Given the description of an element on the screen output the (x, y) to click on. 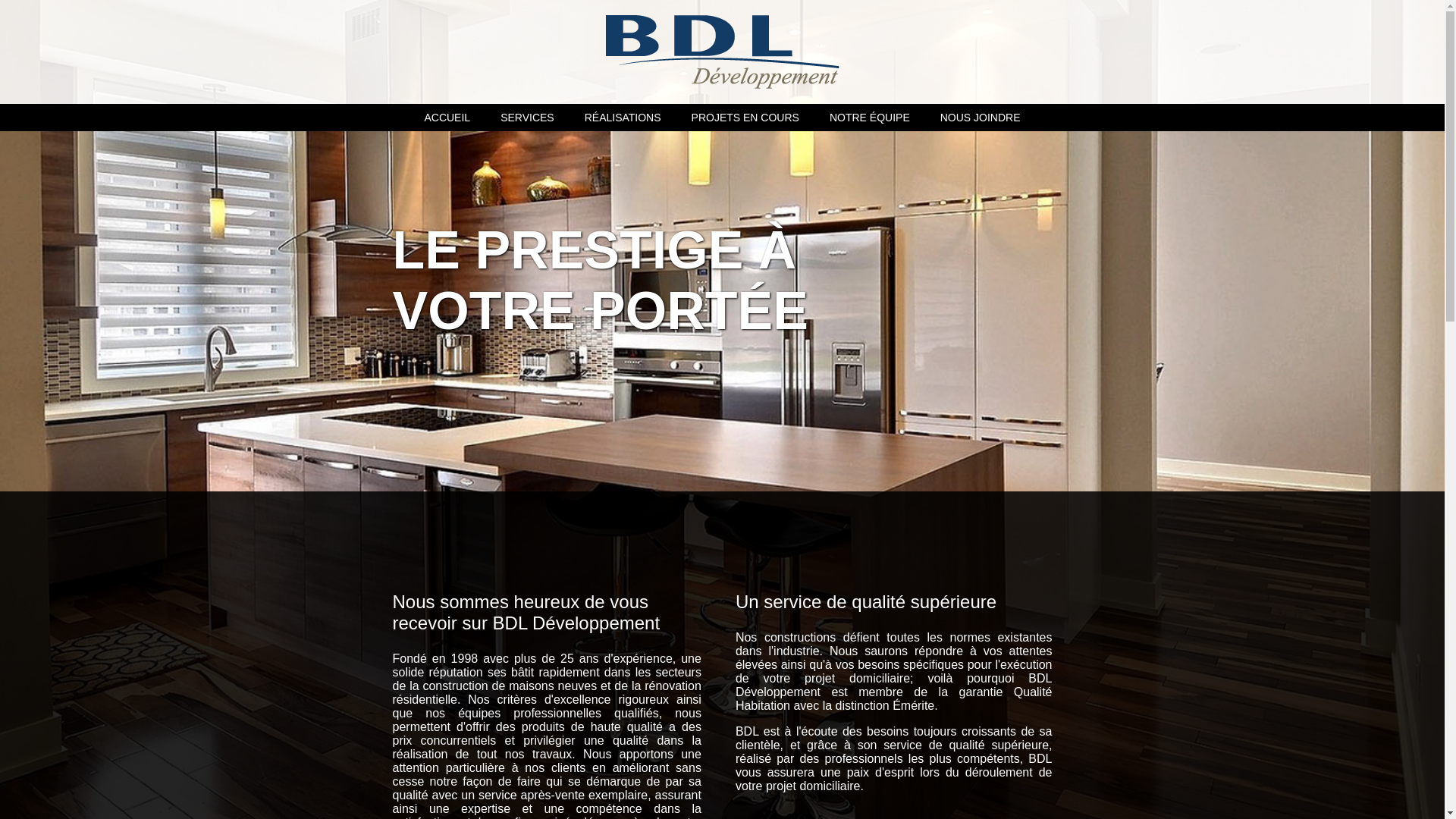
ACCUEIL Element type: text (446, 117)
NOUS JOINDRE Element type: text (980, 117)
SERVICES Element type: text (527, 117)
PROJETS EN COURS Element type: text (745, 117)
